Given the description of an element on the screen output the (x, y) to click on. 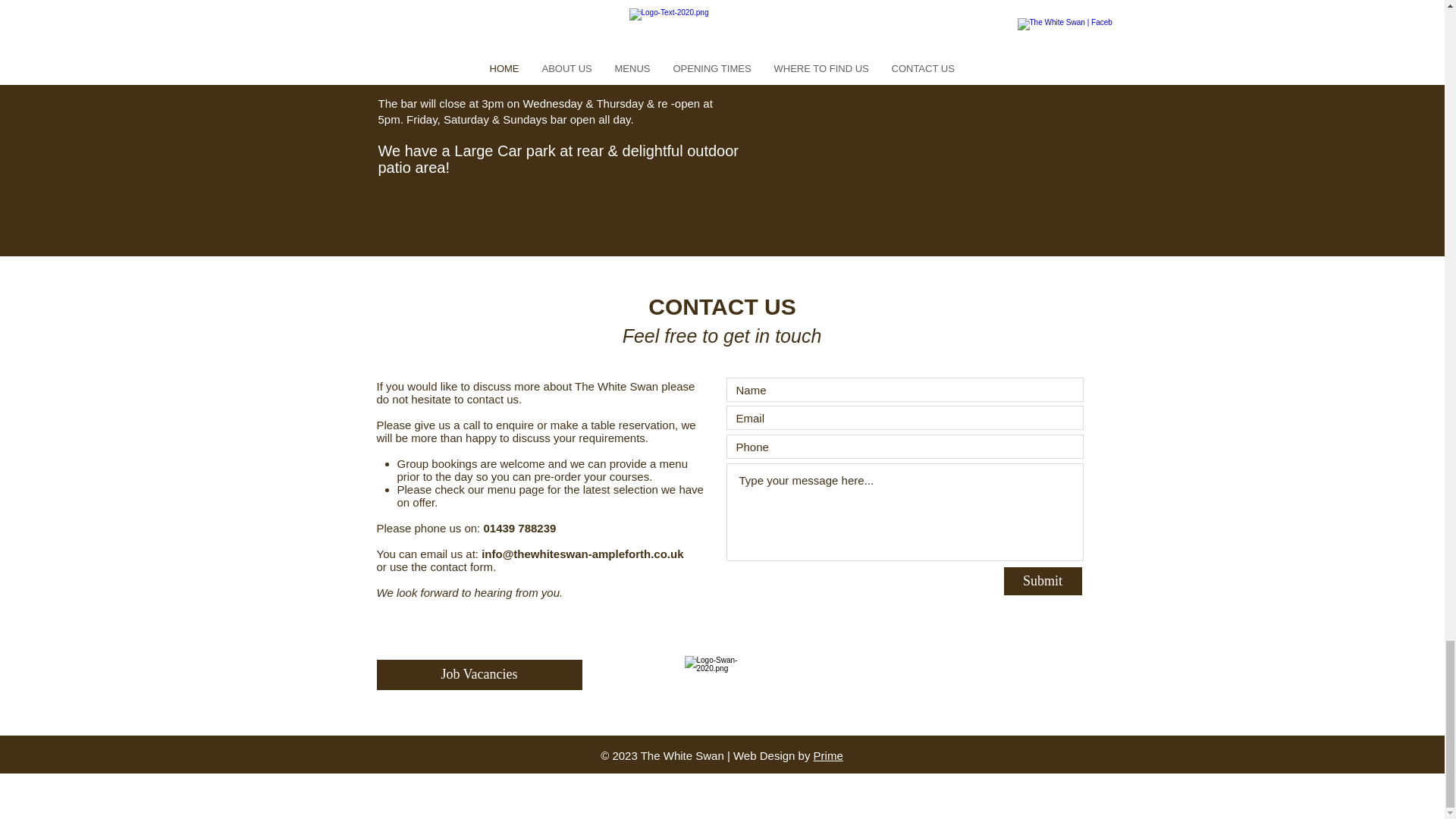
Prime (828, 755)
Job Vacancies (477, 675)
Submit (1042, 581)
